Given the description of an element on the screen output the (x, y) to click on. 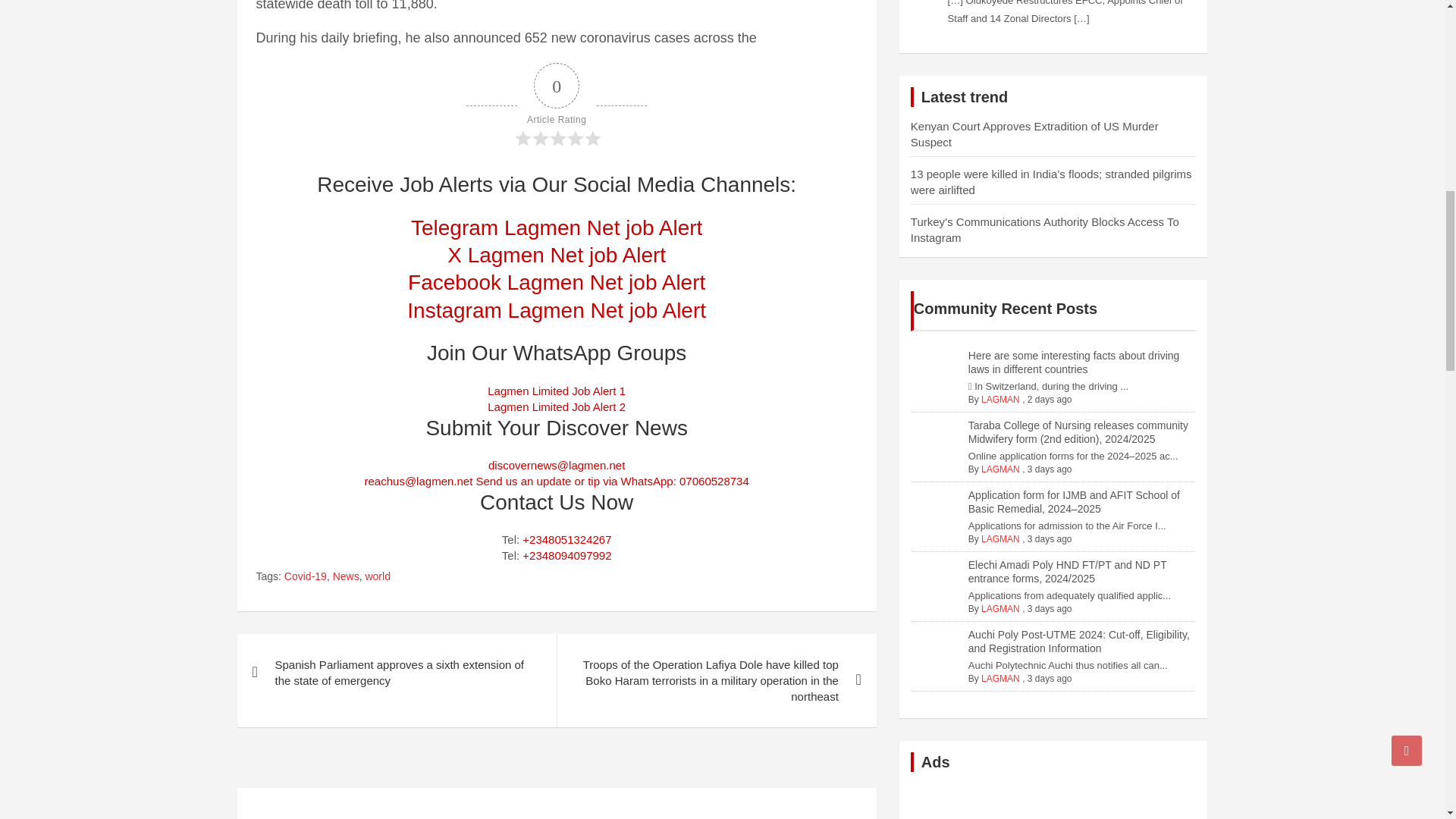
LAGMAN (1000, 538)
LAGMAN (1000, 469)
LAGMAN (1000, 678)
LAGMAN (1000, 608)
LAGMAN (1000, 398)
Telegram Lagmen Net job Alert (555, 227)
